Given the description of an element on the screen output the (x, y) to click on. 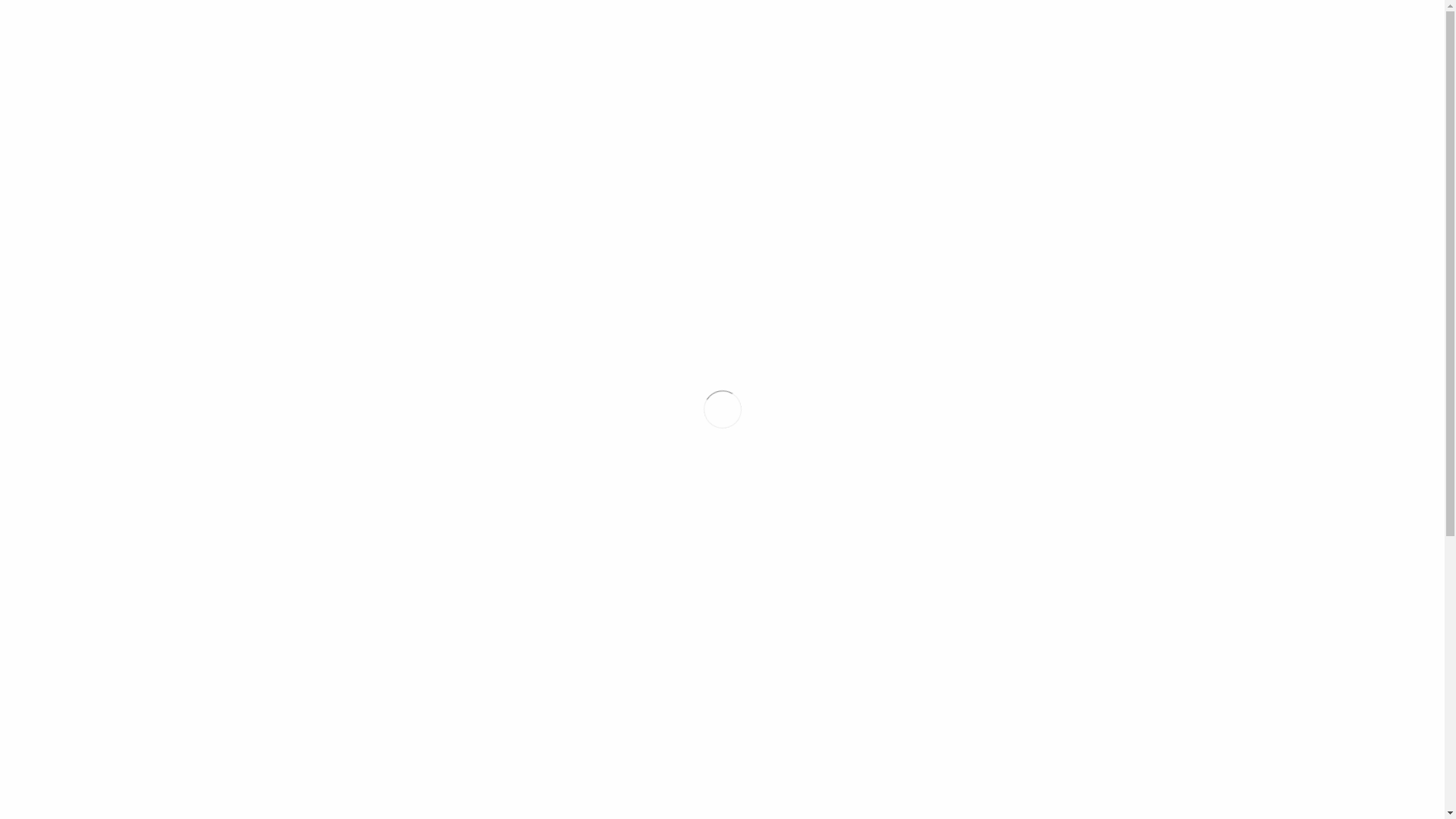
PORTFOLIO Element type: text (1219, 5)
HOME Element type: text (1000, 5)
ABOUT Element type: text (1057, 5)
WHAT WE DO Element type: text (1132, 5)
CONTACT US Element type: text (1382, 5)
HOME Element type: text (973, 130)
PORTFOLIO Element type: text (1039, 130)
ZOOSPORT.COM.AU Element type: text (414, 252)
OUR TEAM Element type: text (1299, 5)
